Given the description of an element on the screen output the (x, y) to click on. 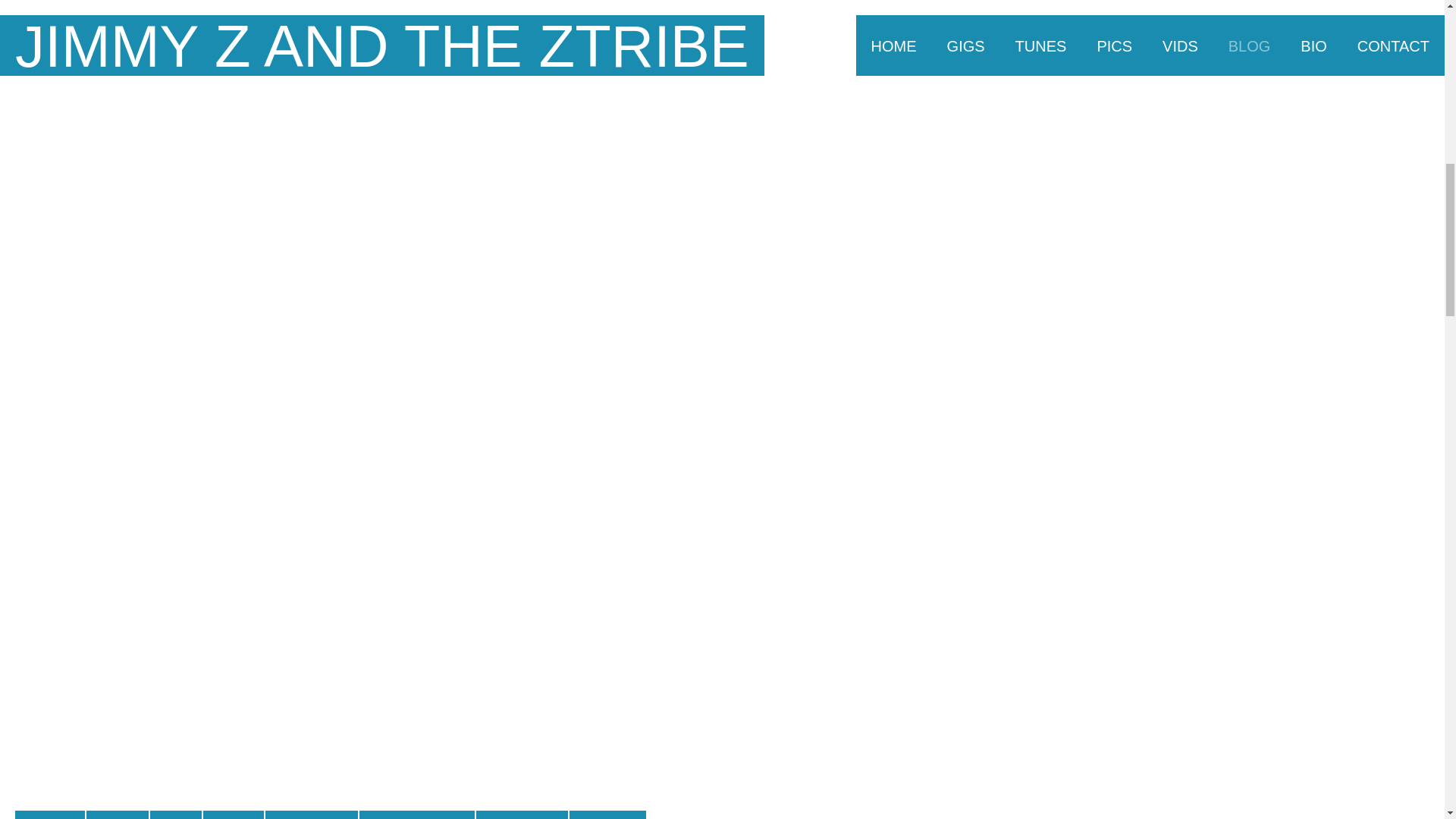
Monterrey Blues Festival (416, 814)
Josh Sklair (233, 814)
Etta James (116, 814)
Donto James (49, 814)
Michael Thompson (311, 814)
Sumetto james (607, 814)
Ronnie Buttafucolli (521, 814)
Jimmy Z (175, 814)
